Given the description of an element on the screen output the (x, y) to click on. 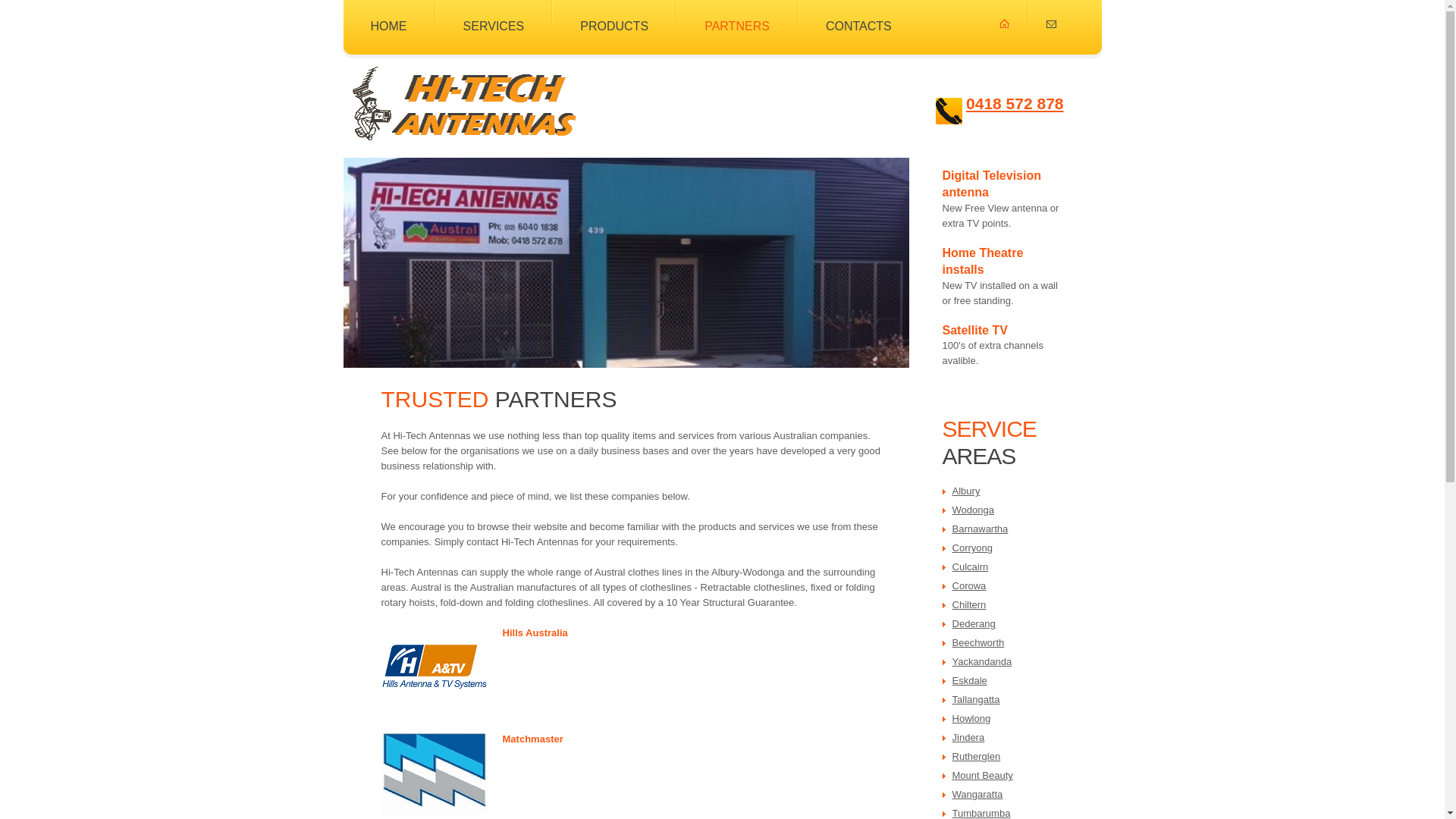
SERVICES Element type: text (493, 16)
Rutherglen Element type: text (976, 756)
Chiltern Element type: text (969, 604)
Eskdale Element type: text (969, 680)
PRODUCTS Element type: text (614, 16)
Yackandanda Element type: text (982, 661)
Matchmaster Element type: text (532, 738)
PARTNERS Element type: text (736, 16)
Wangaratta Element type: text (977, 794)
Culcairn Element type: text (970, 566)
Tallangatta Element type: text (976, 699)
Barnawartha Element type: text (980, 528)
Mount Beauty Element type: text (982, 775)
Corryong Element type: text (972, 547)
Albury Element type: text (966, 490)
Dederang Element type: text (973, 623)
Howlong Element type: text (971, 718)
Hills Australia Element type: text (534, 632)
Jindera Element type: text (968, 737)
Beechworth Element type: text (978, 642)
Wodonga Element type: text (973, 509)
Corowa Element type: text (969, 585)
CONTACTS Element type: text (858, 16)
HOME Element type: text (388, 16)
0418 572 878 Element type: text (1014, 103)
